Given the description of an element on the screen output the (x, y) to click on. 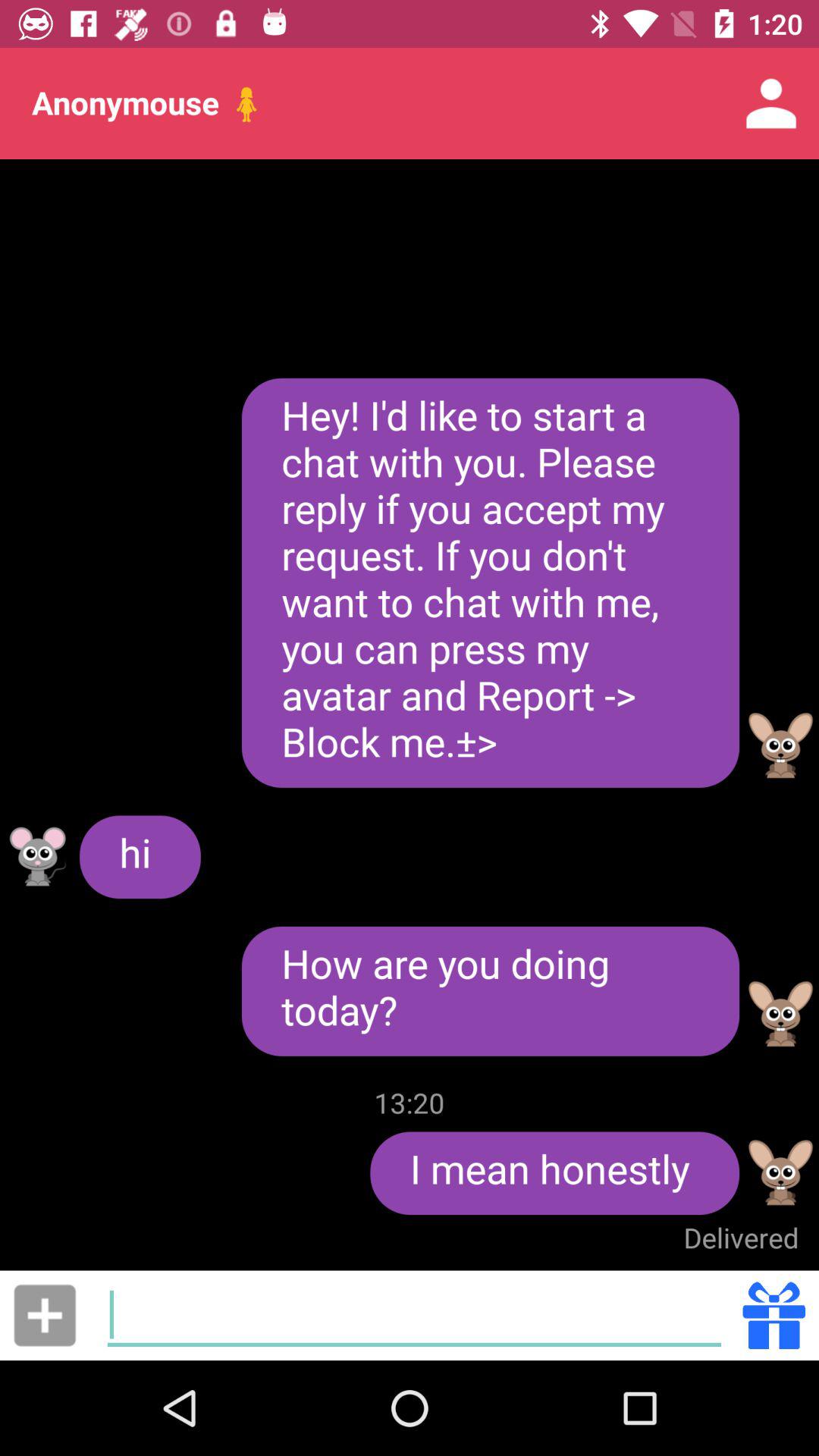
select the hey i d item (490, 582)
